Given the description of an element on the screen output the (x, y) to click on. 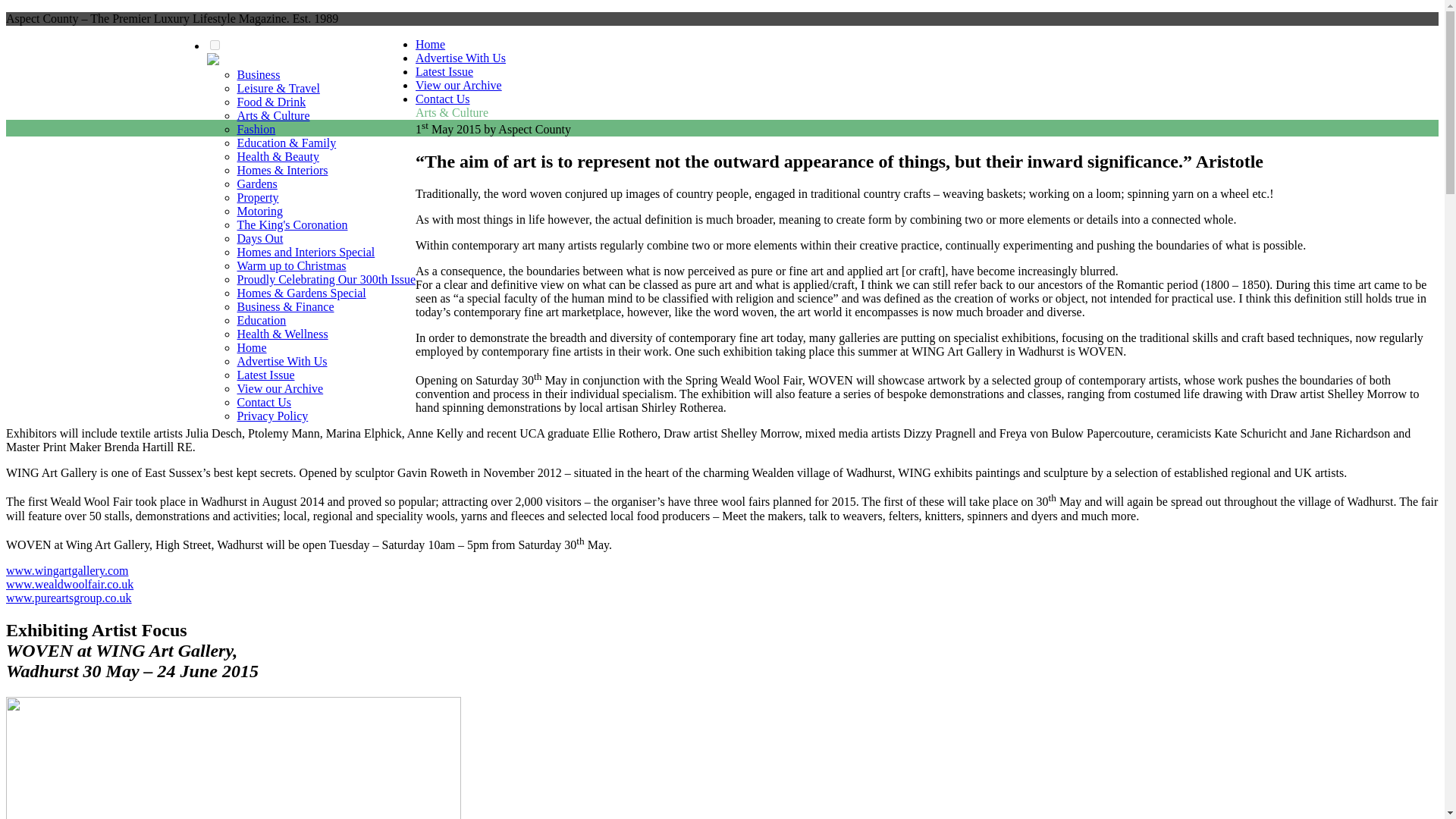
on (214, 44)
Contact Us (442, 98)
Property (256, 196)
The King's Coronation (291, 224)
Advertise With Us (459, 57)
Advertise With Us (280, 360)
www.pureartsgroup.co.uk (68, 597)
Proudly Celebrating Our 300th Issue (324, 278)
Home (250, 347)
www.wealdwoolfair.co.uk (69, 584)
